Given the description of an element on the screen output the (x, y) to click on. 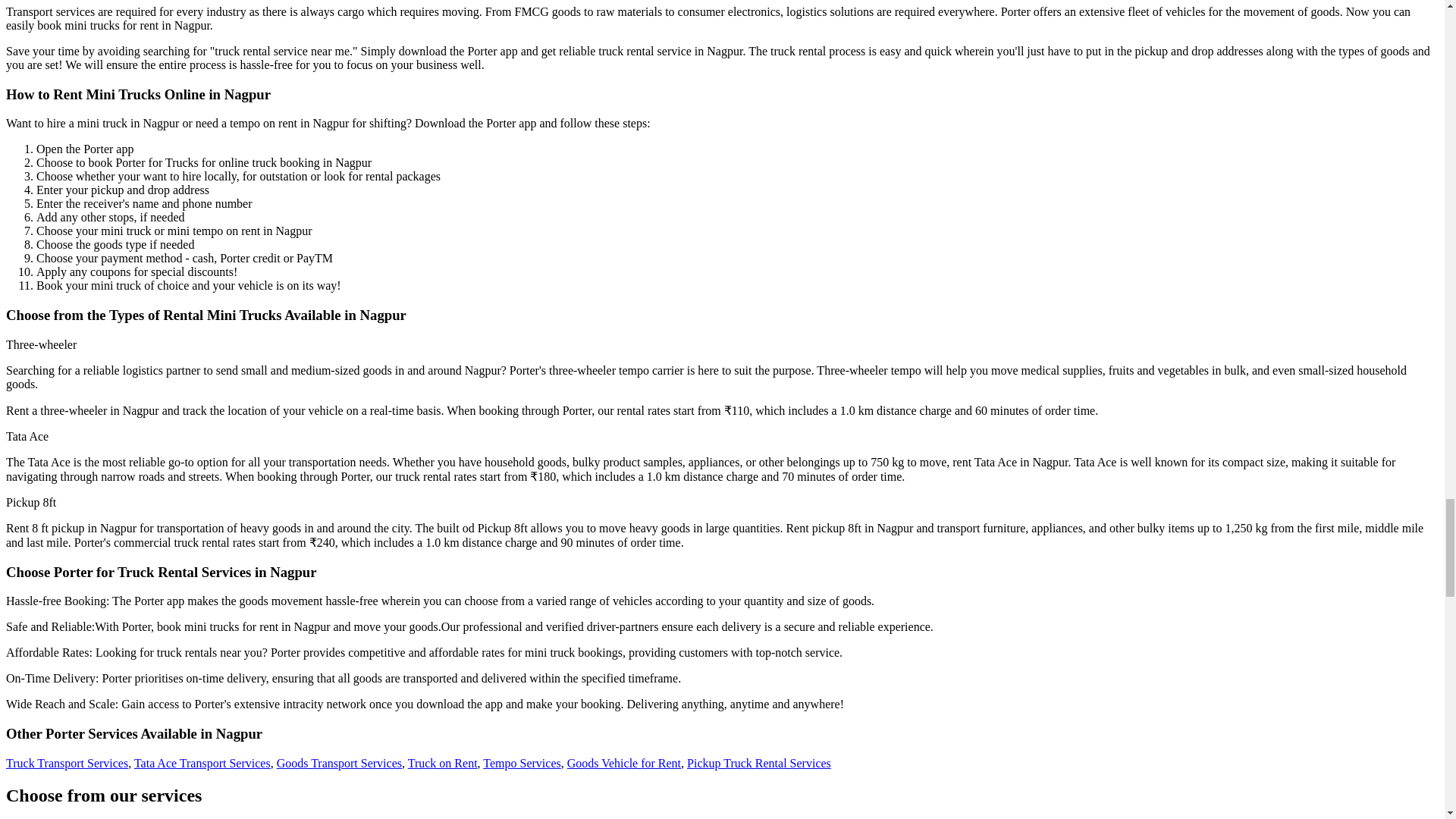
Truck on Rent (442, 762)
Tempo Services (521, 762)
Truck Transport Services (66, 762)
Goods Vehicle for Rent (624, 762)
Tata Ace Transport Services (201, 762)
Goods Transport Services (338, 762)
Pickup Truck Rental Services (759, 762)
